Given the description of an element on the screen output the (x, y) to click on. 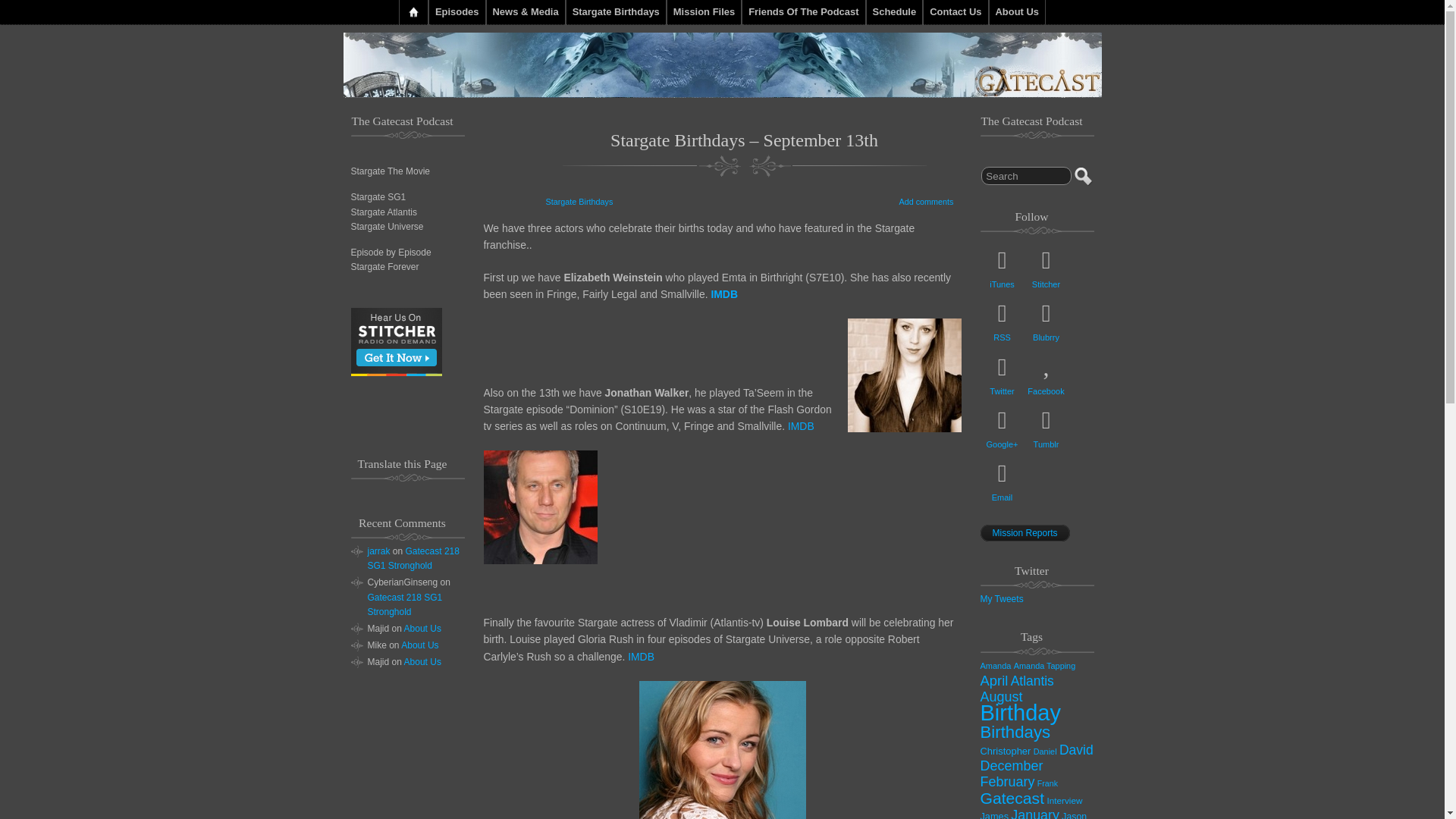
Stargate Birthdays (579, 201)
jarrak (378, 551)
Mission Files (703, 12)
IMDB (724, 294)
IMDB (800, 426)
ElizabethWeinstein (903, 375)
Schedule (894, 12)
About Us (419, 644)
Gatecast 218 SG1 Stronghold (404, 604)
Gatecast 218 SG1 Stronghold (412, 558)
